Given the description of an element on the screen output the (x, y) to click on. 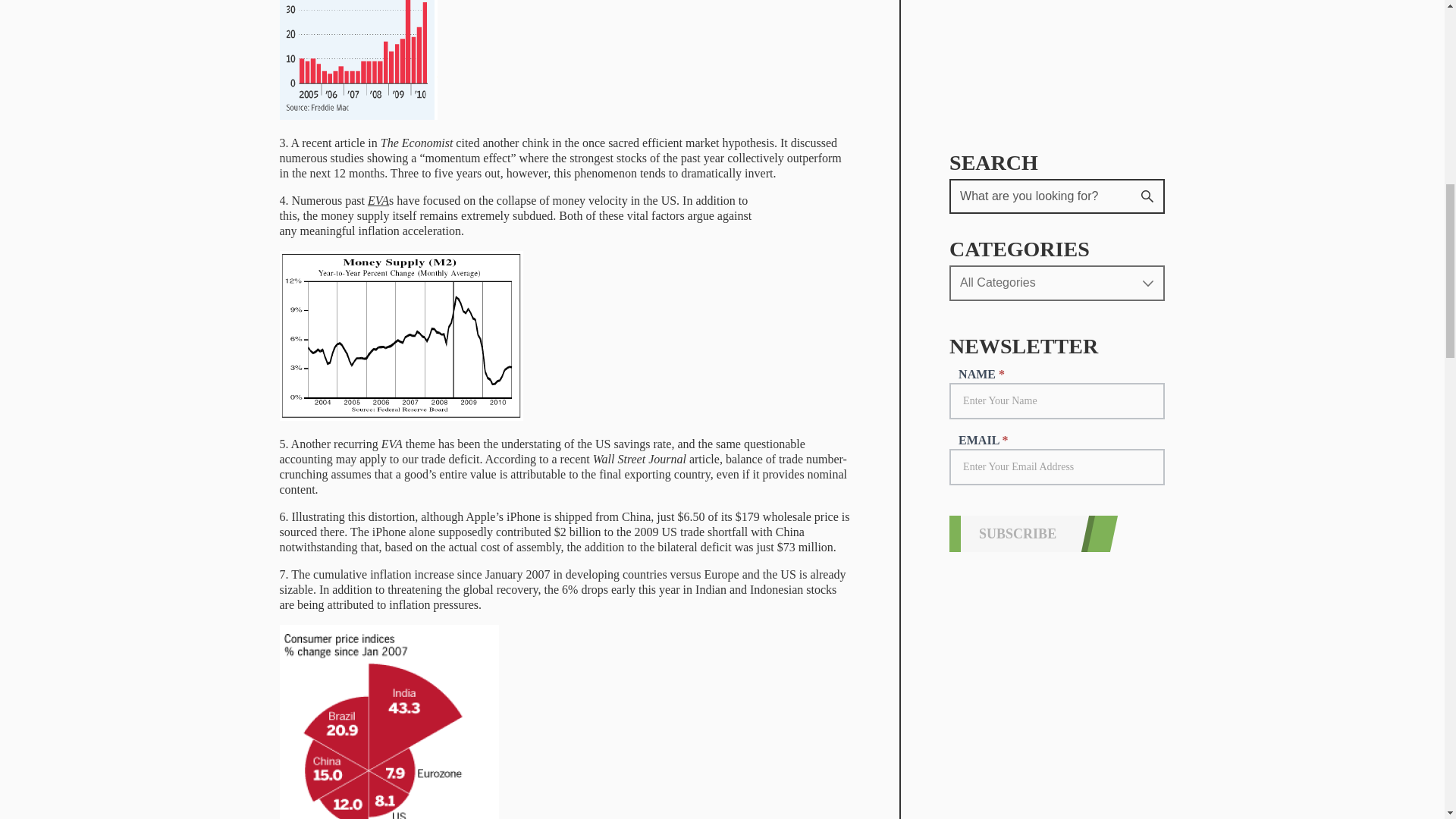
SUBSCRIBE (1019, 21)
